Given the description of an element on the screen output the (x, y) to click on. 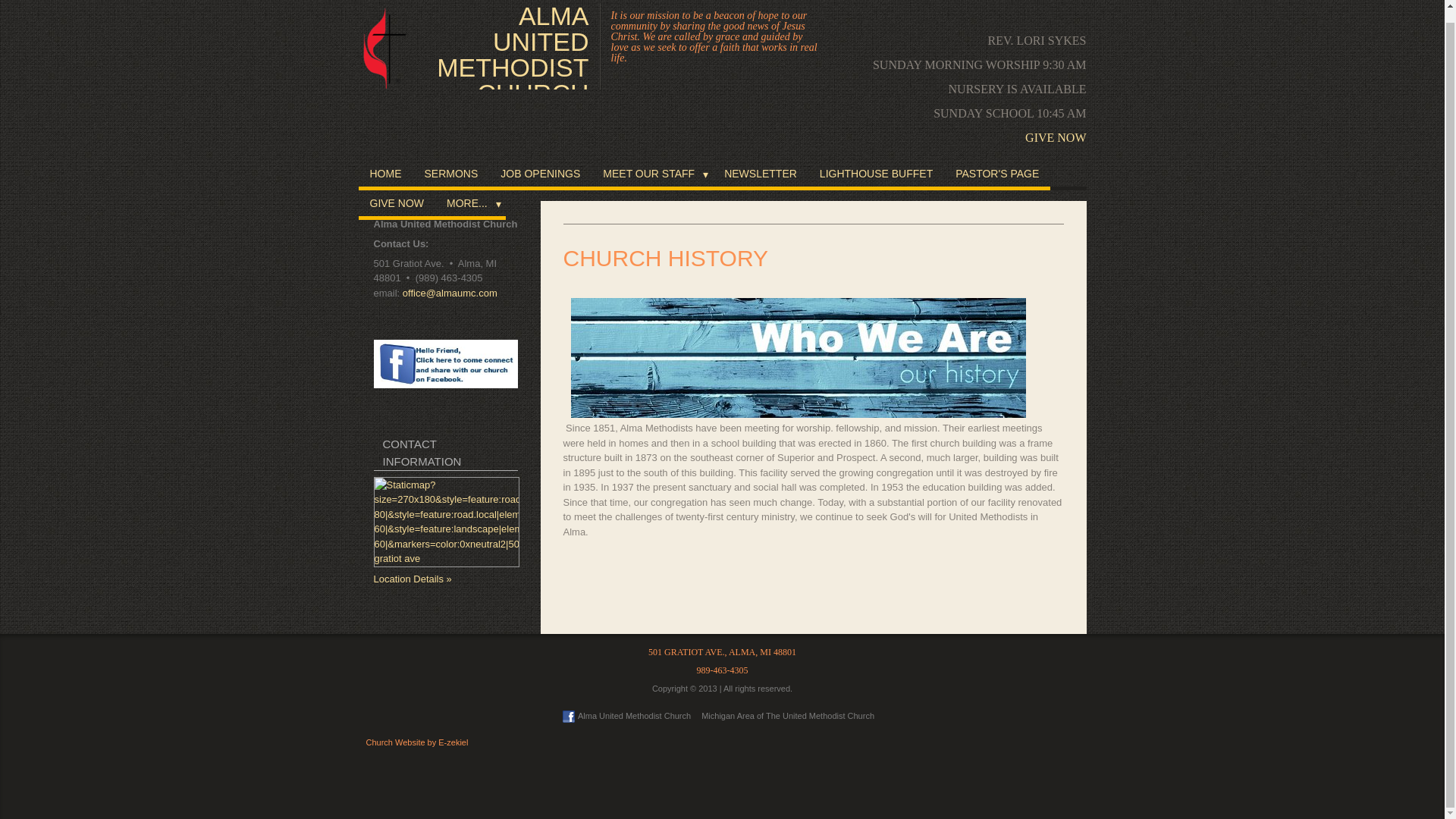
GIVE NOW (396, 205)
Church Website by E-zekiel (416, 741)
ALMA UNITED METHODIST CHURCH (510, 46)
HOME (385, 175)
NEWSLETTER (760, 175)
Alma United Methodist Church (624, 715)
PASTOR'S PAGE (996, 175)
GIVE NOW (1055, 137)
MORE... (470, 205)
MEET OUR STAFF (652, 175)
JOB OPENINGS (540, 175)
SERMONS (450, 175)
LIGHTHOUSE BUFFET (875, 175)
Michigan Area of The United Methodist Church (788, 715)
